Given the description of an element on the screen output the (x, y) to click on. 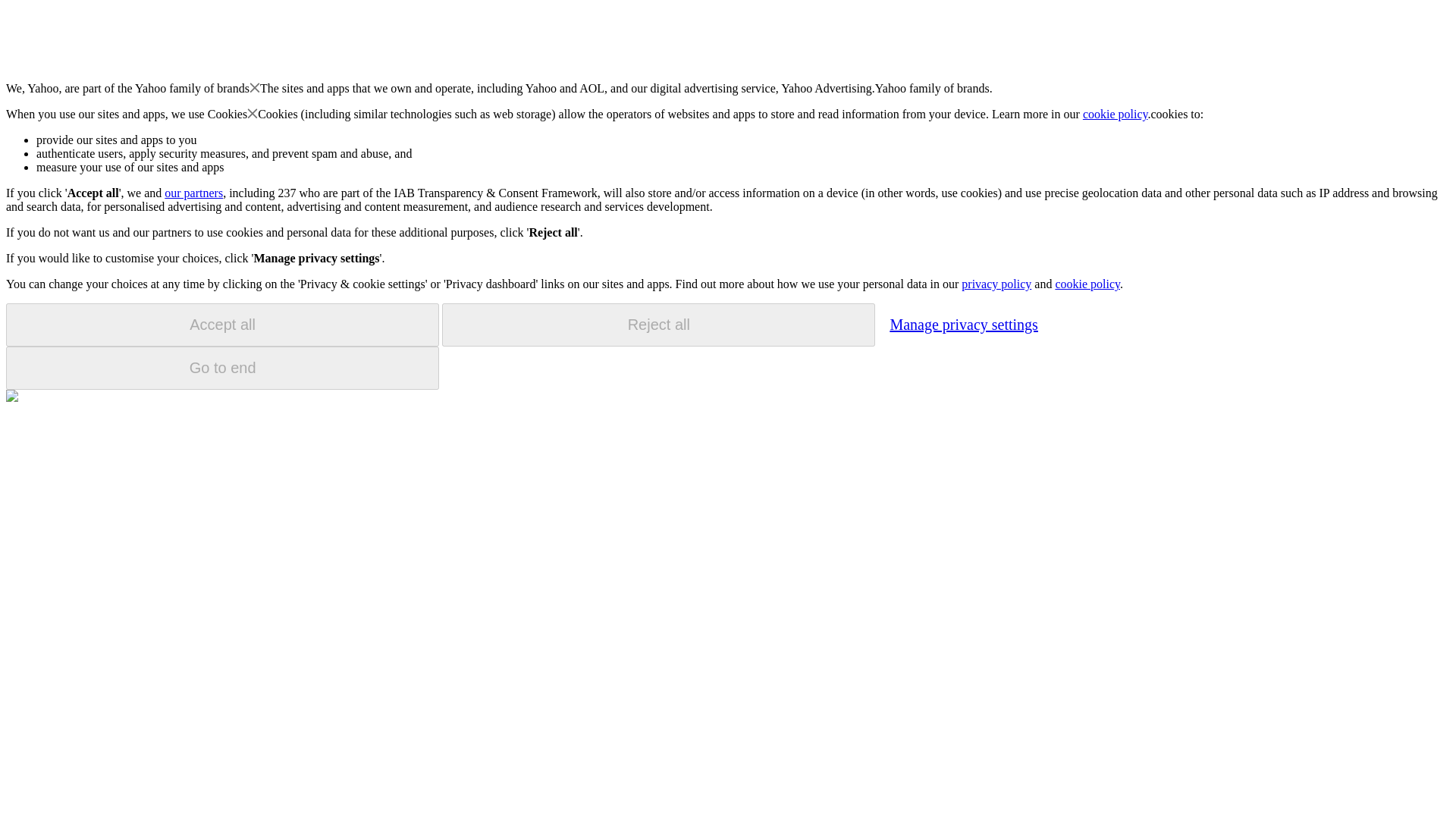
Go to end (222, 367)
Manage privacy settings (963, 323)
privacy policy (995, 283)
our partners (193, 192)
cookie policy (1086, 283)
Accept all (222, 324)
Reject all (658, 324)
cookie policy (1115, 113)
